Given the description of an element on the screen output the (x, y) to click on. 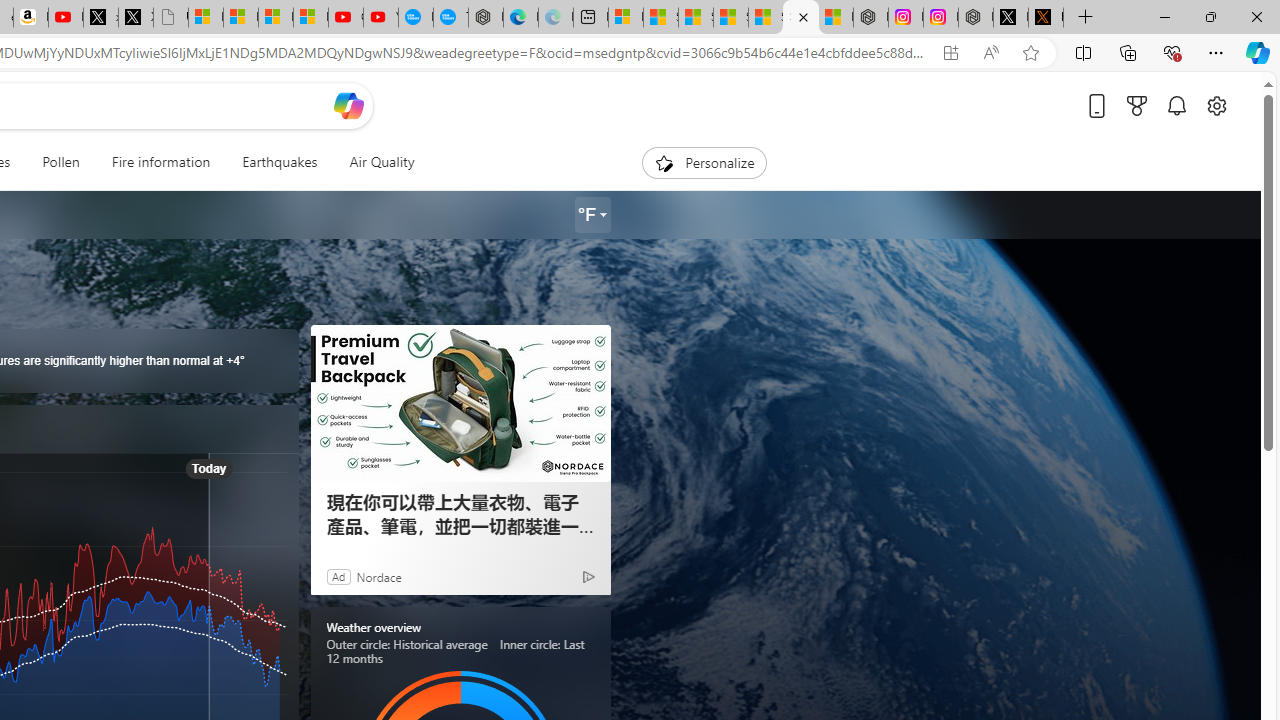
Nordace - Nordace has arrived Hong Kong (485, 17)
Ad (338, 576)
Close tab (802, 16)
Earthquakes (279, 162)
Untitled (170, 17)
Read aloud this page (Ctrl+Shift+U) (991, 53)
Close (1256, 16)
Open settings (1216, 105)
Air Quality (381, 162)
Personalize (703, 162)
